Given the description of an element on the screen output the (x, y) to click on. 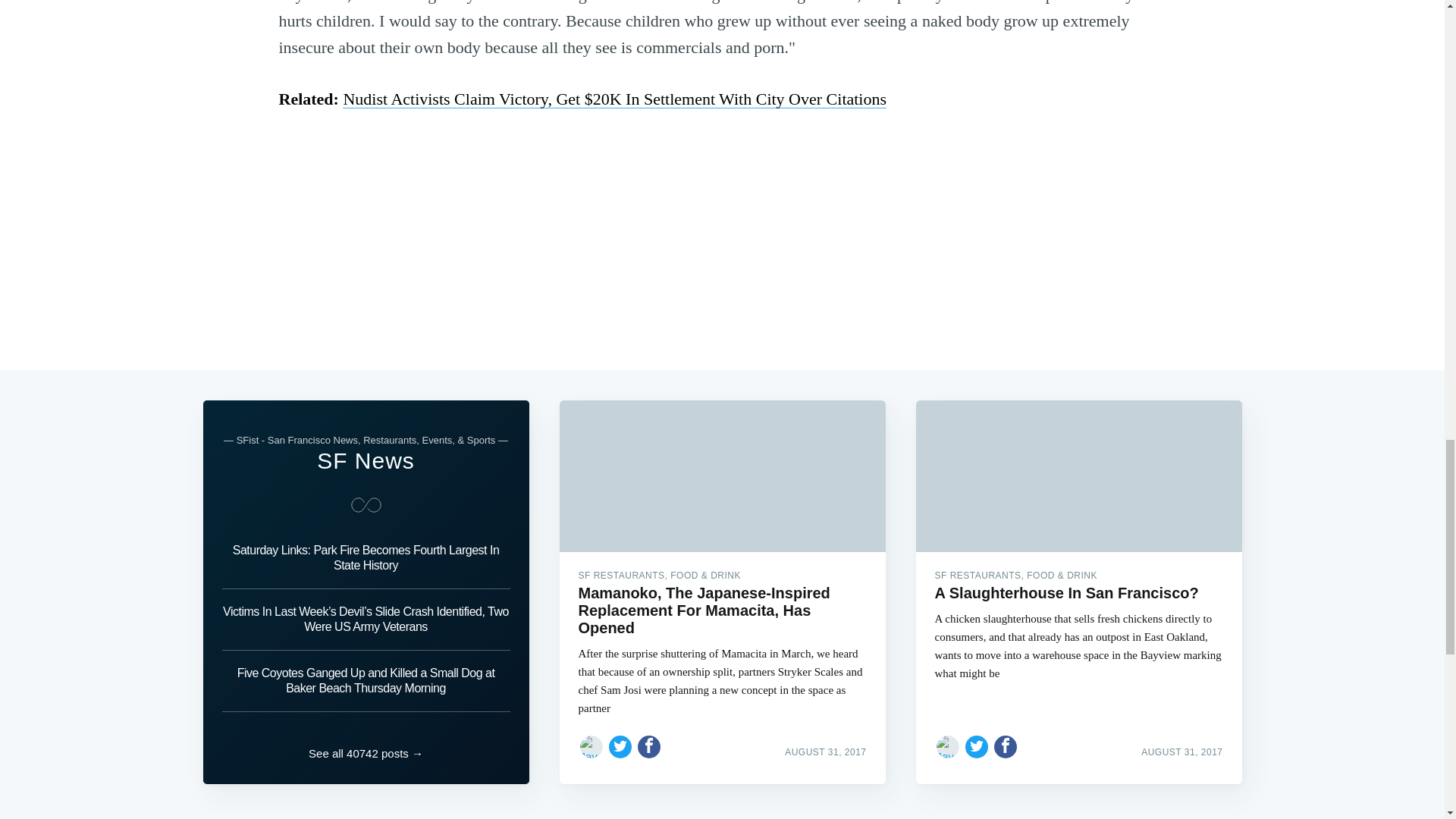
Share on Facebook (649, 746)
Share on Twitter (620, 746)
SF News (365, 460)
Share on Twitter (976, 746)
Share on Facebook (1004, 746)
